Given the description of an element on the screen output the (x, y) to click on. 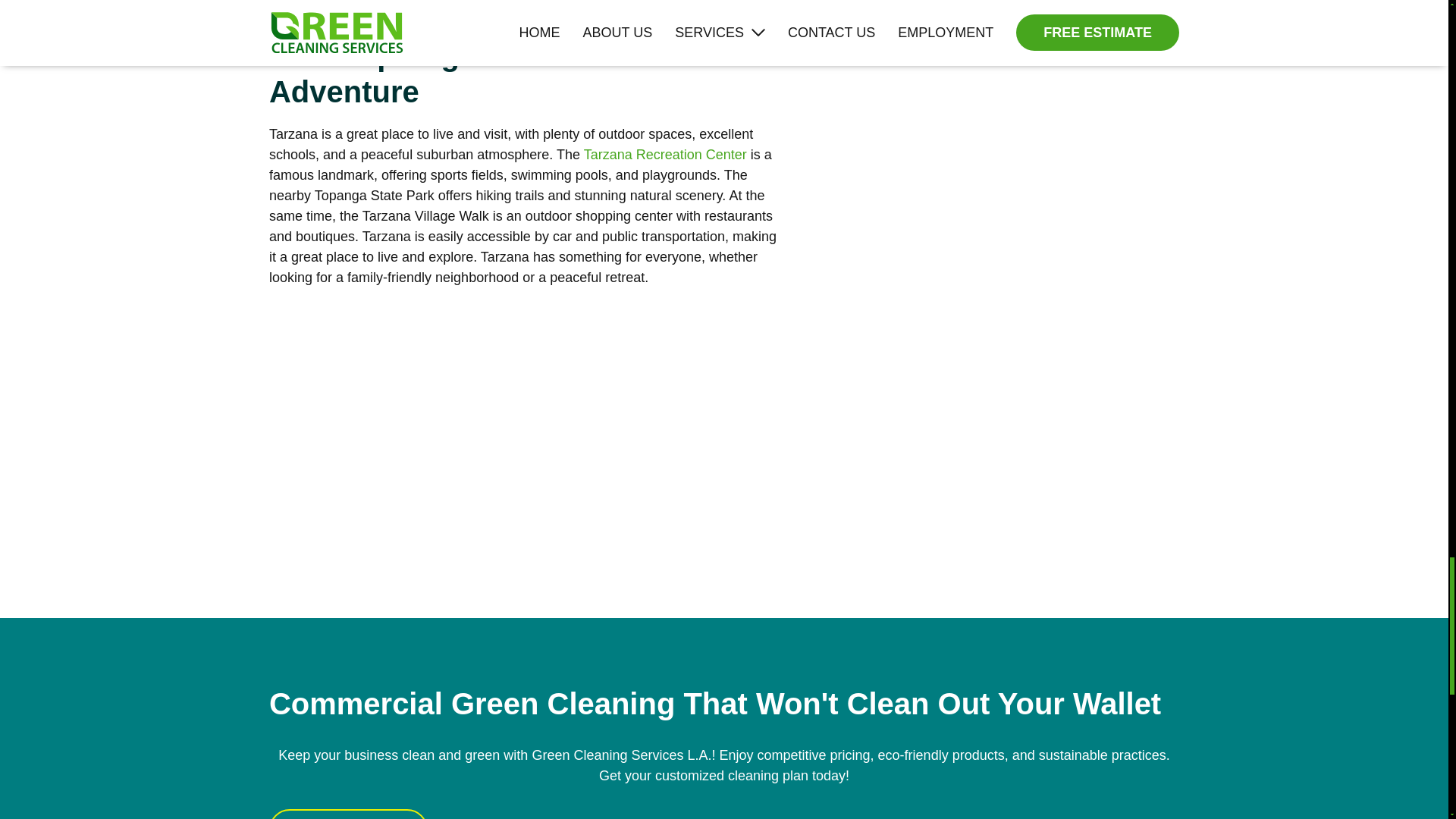
310-773-9791 (348, 814)
Tarzana Recreation Center (664, 154)
YouTube video player (481, 430)
